Given the description of an element on the screen output the (x, y) to click on. 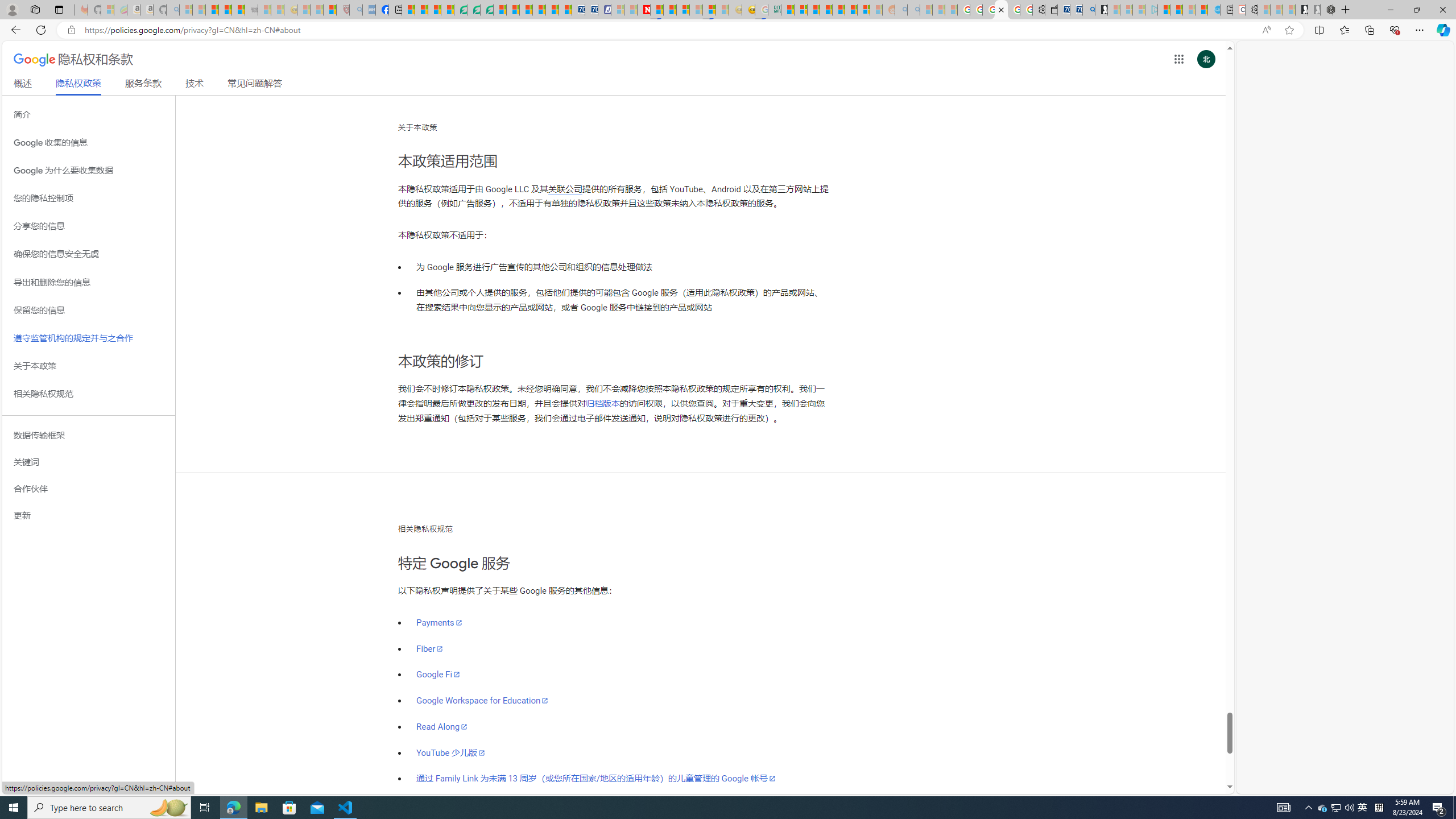
Latest Politics News & Archive | Newsweek.com (643, 9)
Wallet (1050, 9)
Bing Real Estate - Home sales and rental listings (1088, 9)
